Given the description of an element on the screen output the (x, y) to click on. 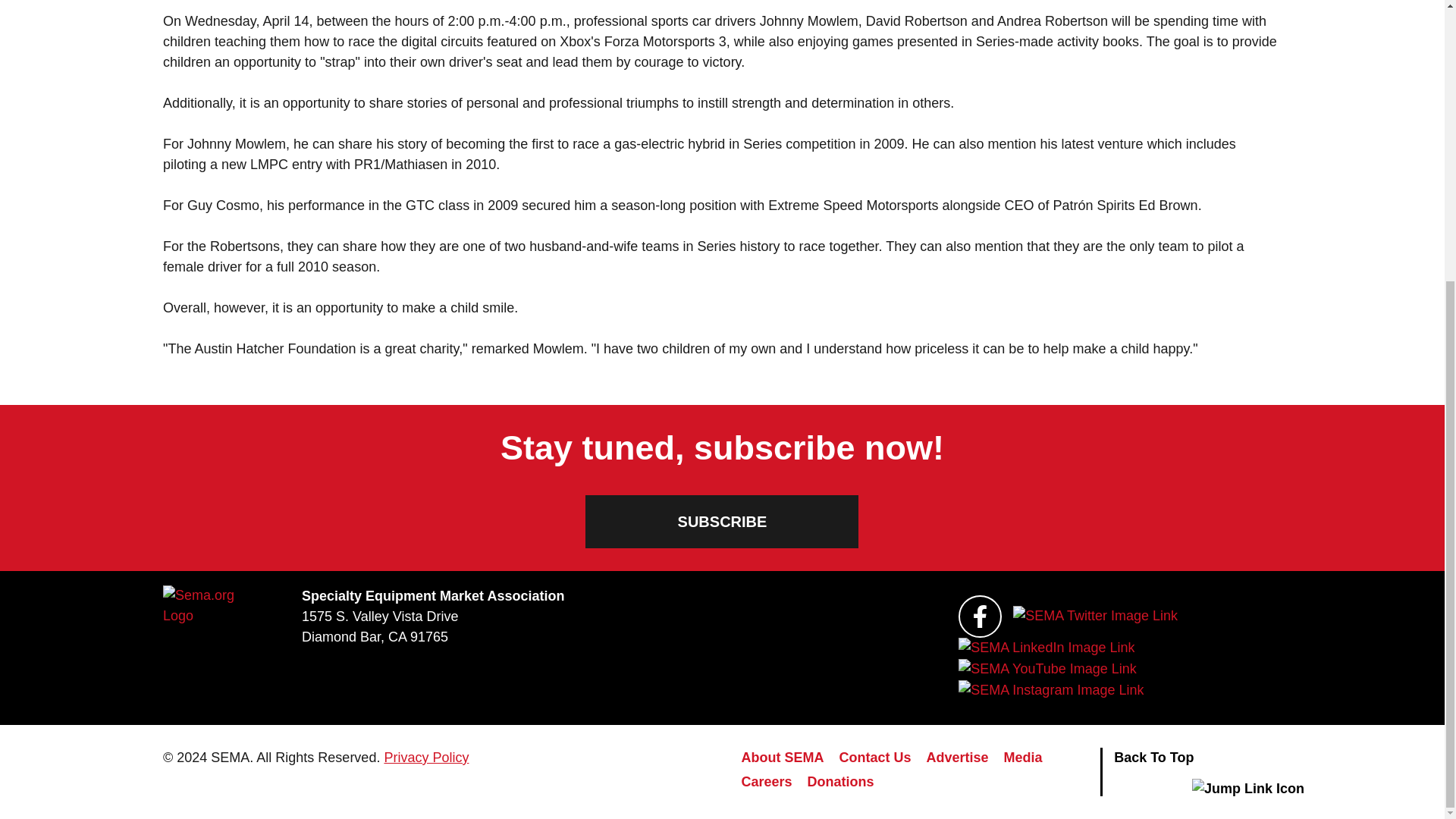
SEMA Instagram Link (1050, 690)
SEMA LinkedIn Link (1046, 648)
Privacy Policy (426, 757)
SEMA Facebook Link (979, 616)
Privacy Policy (426, 757)
SEMA Twitter Link (1095, 615)
SUBSCRIBE (722, 521)
SEMA YouTube Link (1046, 668)
About SEMA (782, 759)
Contact Us (874, 759)
